Given the description of an element on the screen output the (x, y) to click on. 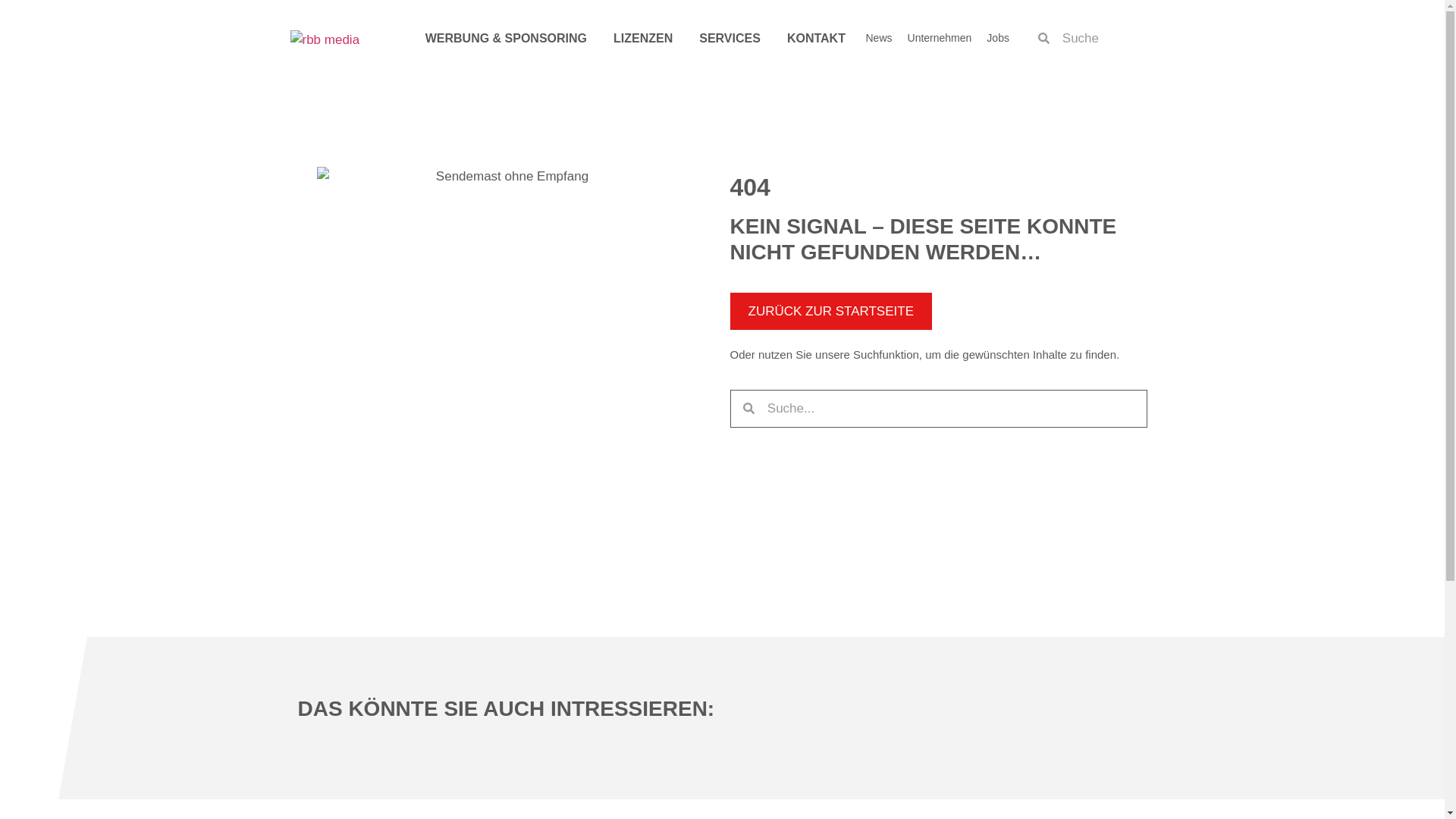
KONTAKT (815, 38)
Jobs (997, 37)
News (879, 37)
LIZENZEN (643, 38)
SERVICES (729, 38)
Unternehmen (939, 37)
